Given the description of an element on the screen output the (x, y) to click on. 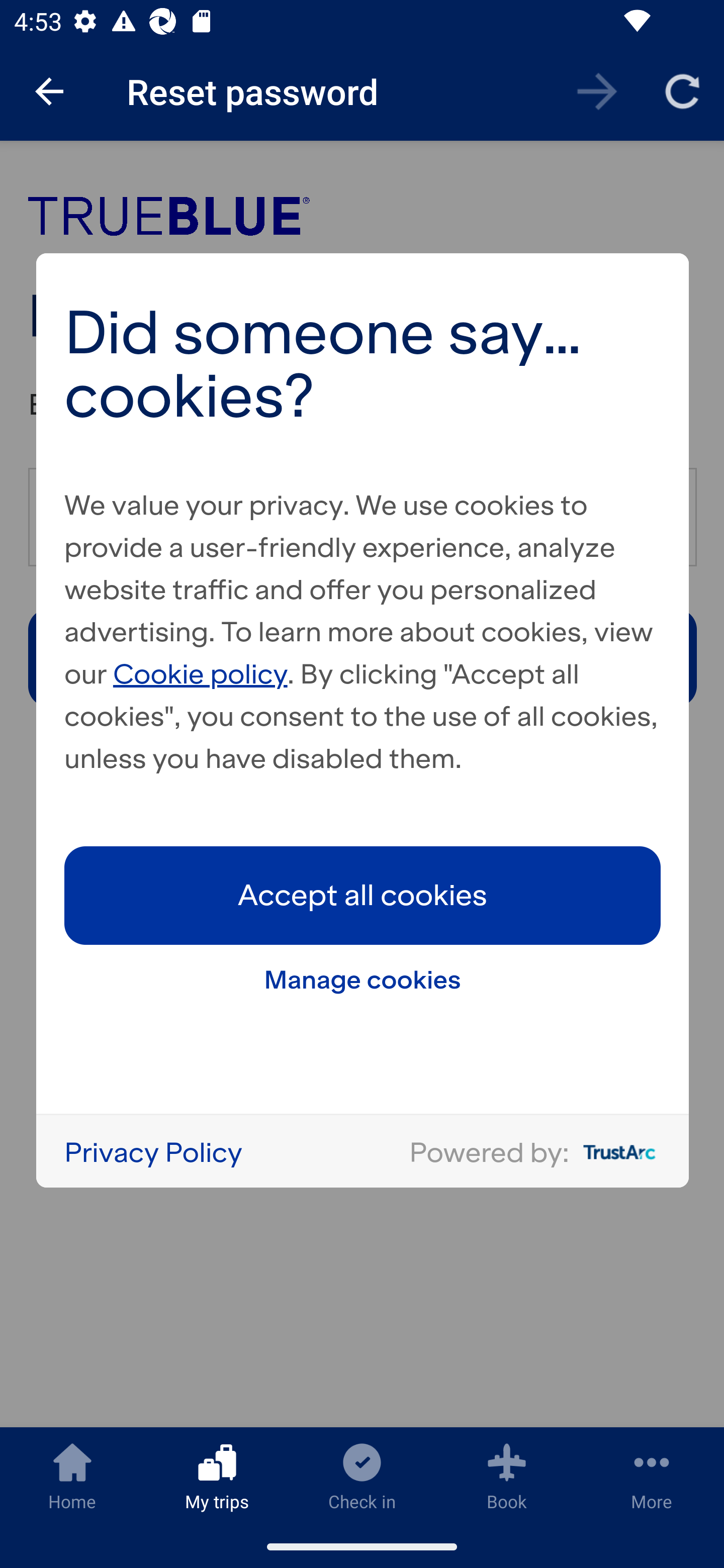
Navigate up (49, 91)
Forward (597, 90)
Reload (681, 90)
Cookie policy (200, 673)
Accept all cookies (362, 895)
Manage cookies (362, 979)
Privacy Policy (152, 1151)
Company logo for TrustArc (614, 1152)
Home (72, 1475)
Check in (361, 1475)
Book (506, 1475)
More (651, 1475)
